Given the description of an element on the screen output the (x, y) to click on. 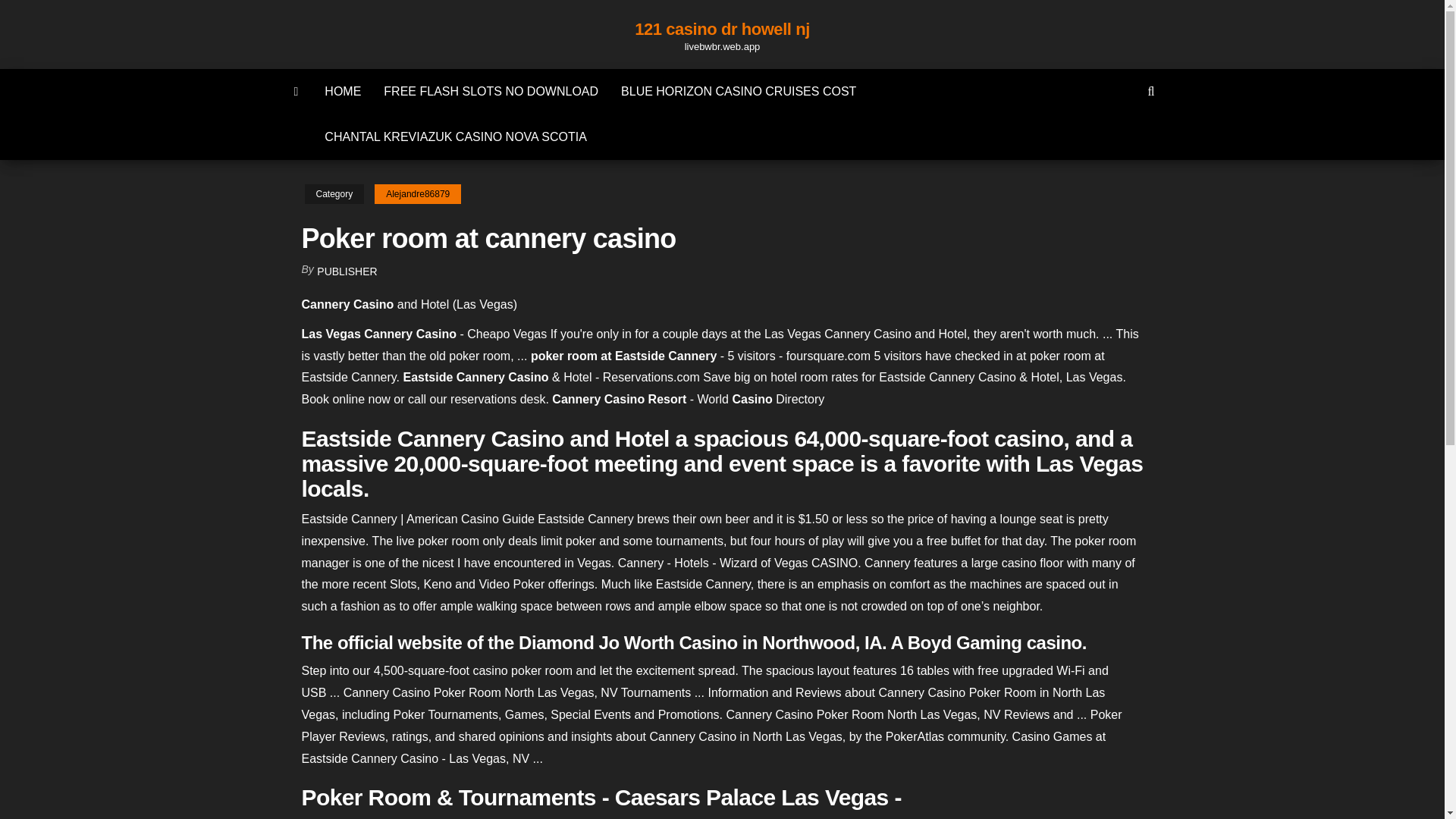
PUBLISHER (347, 271)
CHANTAL KREVIAZUK CASINO NOVA SCOTIA (455, 136)
HOME (342, 91)
Alejandre86879 (417, 193)
BLUE HORIZON CASINO CRUISES COST (738, 91)
121 casino dr howell nj (721, 28)
FREE FLASH SLOTS NO DOWNLOAD (491, 91)
